Given the description of an element on the screen output the (x, y) to click on. 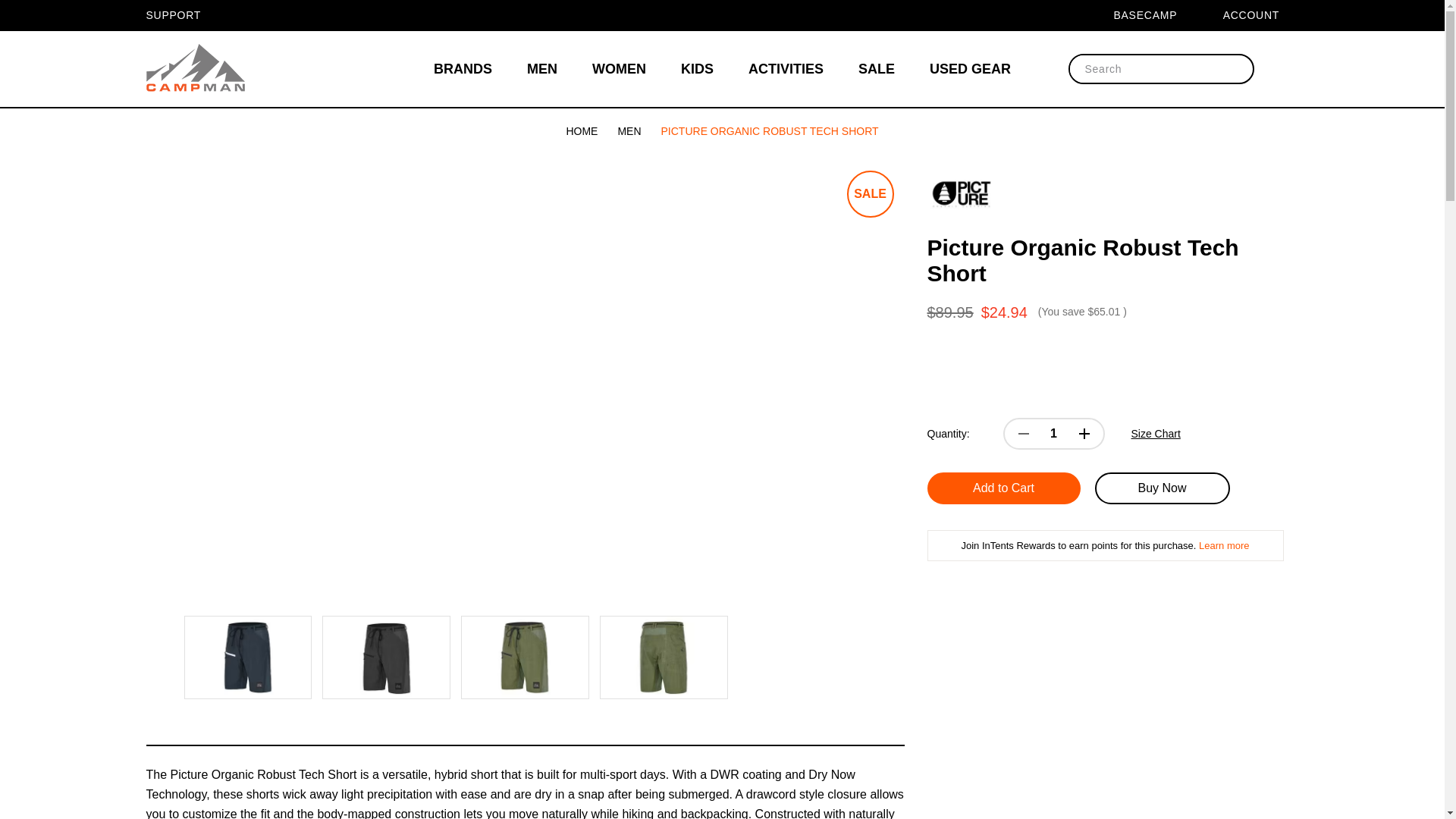
BRANDS (462, 69)
Add to Cart (1003, 488)
SUPPORT (182, 15)
BASECAMP (1154, 15)
Back View (662, 657)
Robust Tech Short - Dark Blue (247, 657)
Campman.com (194, 69)
Robust Tech Short - Black (386, 657)
Robust Tech Short - Kaki (524, 657)
ACCOUNT (1260, 15)
